Given the description of an element on the screen output the (x, y) to click on. 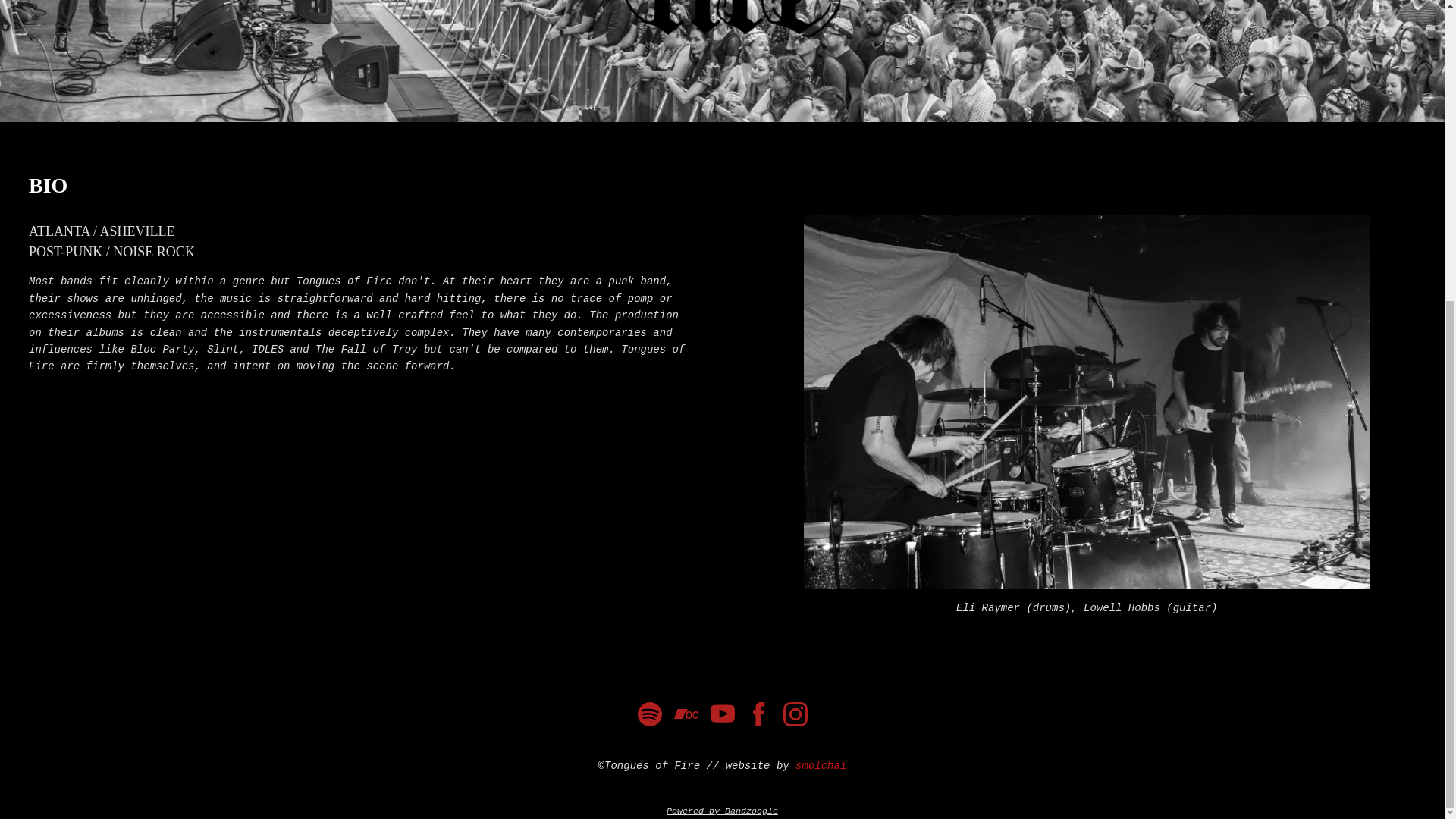
Powered by Bandzoogle (721, 810)
Powered by Bandzoogle (721, 810)
smolchai (819, 766)
